Given the description of an element on the screen output the (x, y) to click on. 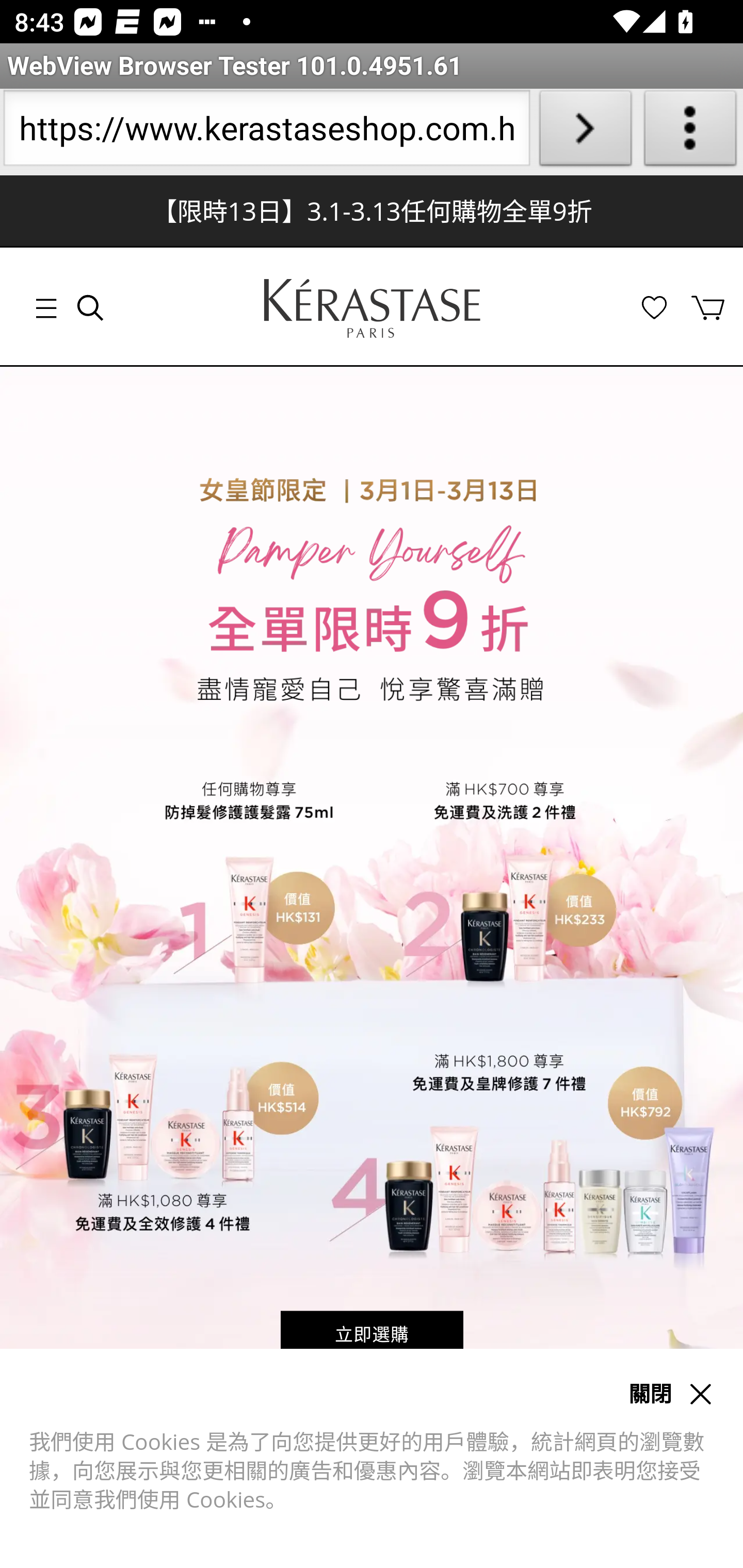
Load URL (585, 132)
About WebView (690, 132)
0cddd1fa-92c3-4180-b373-114d772fdfc2 (371, 307)
0cddd1fa-92c3-4180-b373-114d772fdfc2 (371, 308)
關閉 (649, 1394)
